Given the description of an element on the screen output the (x, y) to click on. 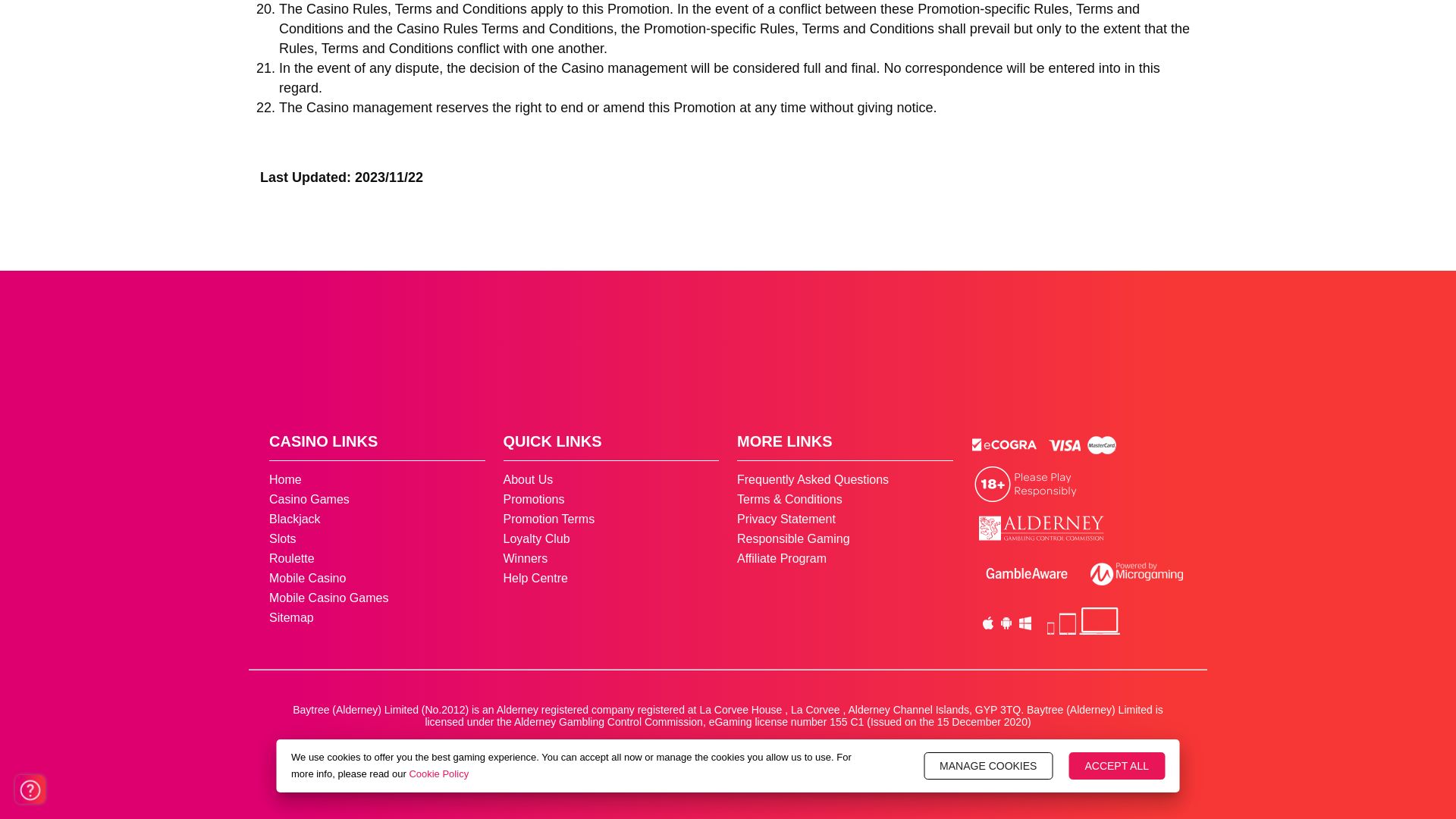
Blackjack (294, 518)
Slots (283, 538)
Casino Games (309, 499)
Home (285, 479)
